Given the description of an element on the screen output the (x, y) to click on. 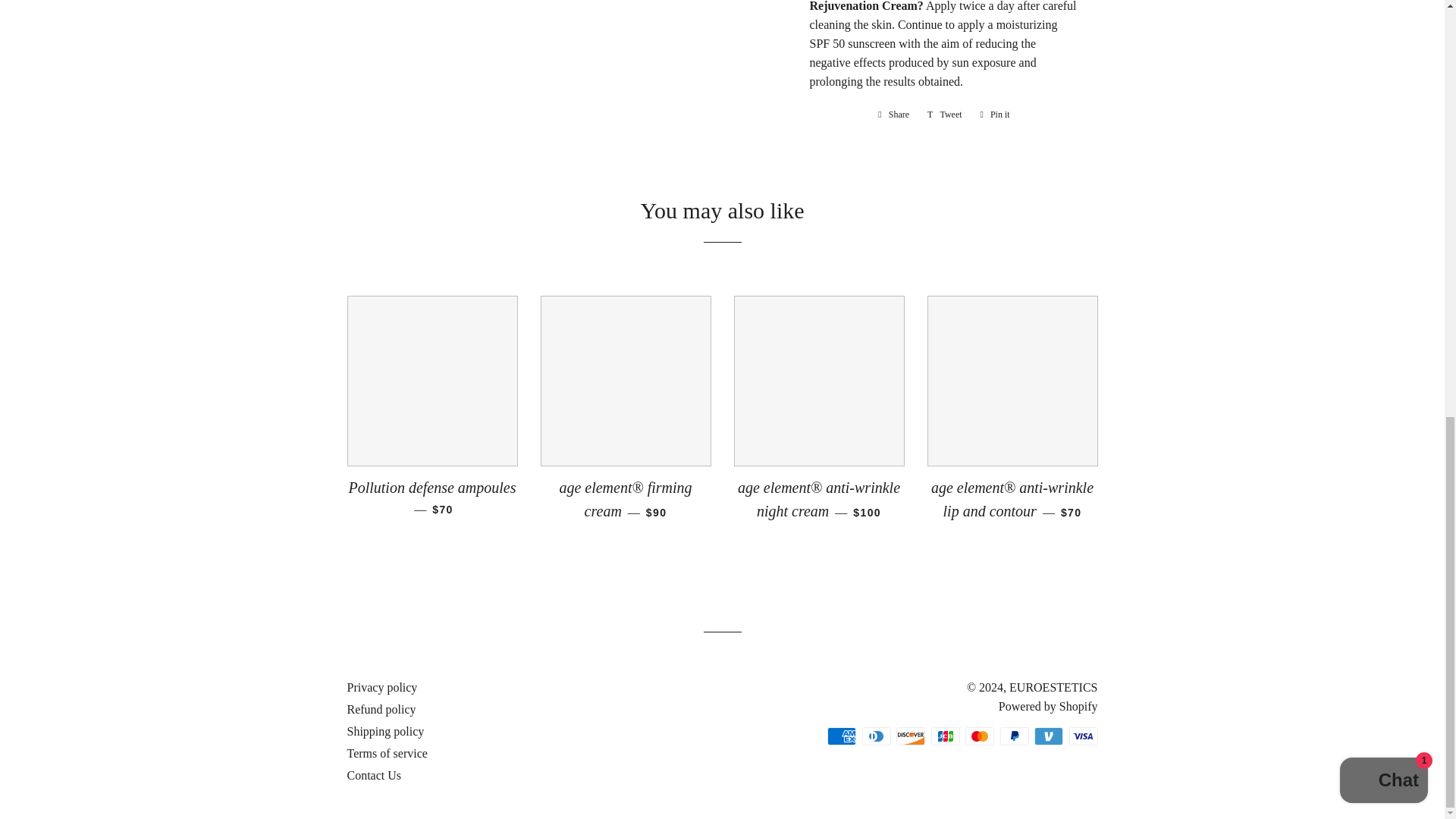
Visa (1082, 736)
American Express (841, 736)
Share on Facebook (893, 114)
Tweet on Twitter (944, 114)
JCB (945, 736)
Discover (994, 114)
PayPal (910, 736)
Pin on Pinterest (1012, 736)
Mastercard (994, 114)
Venmo (979, 736)
Diners Club (1047, 736)
